Given the description of an element on the screen output the (x, y) to click on. 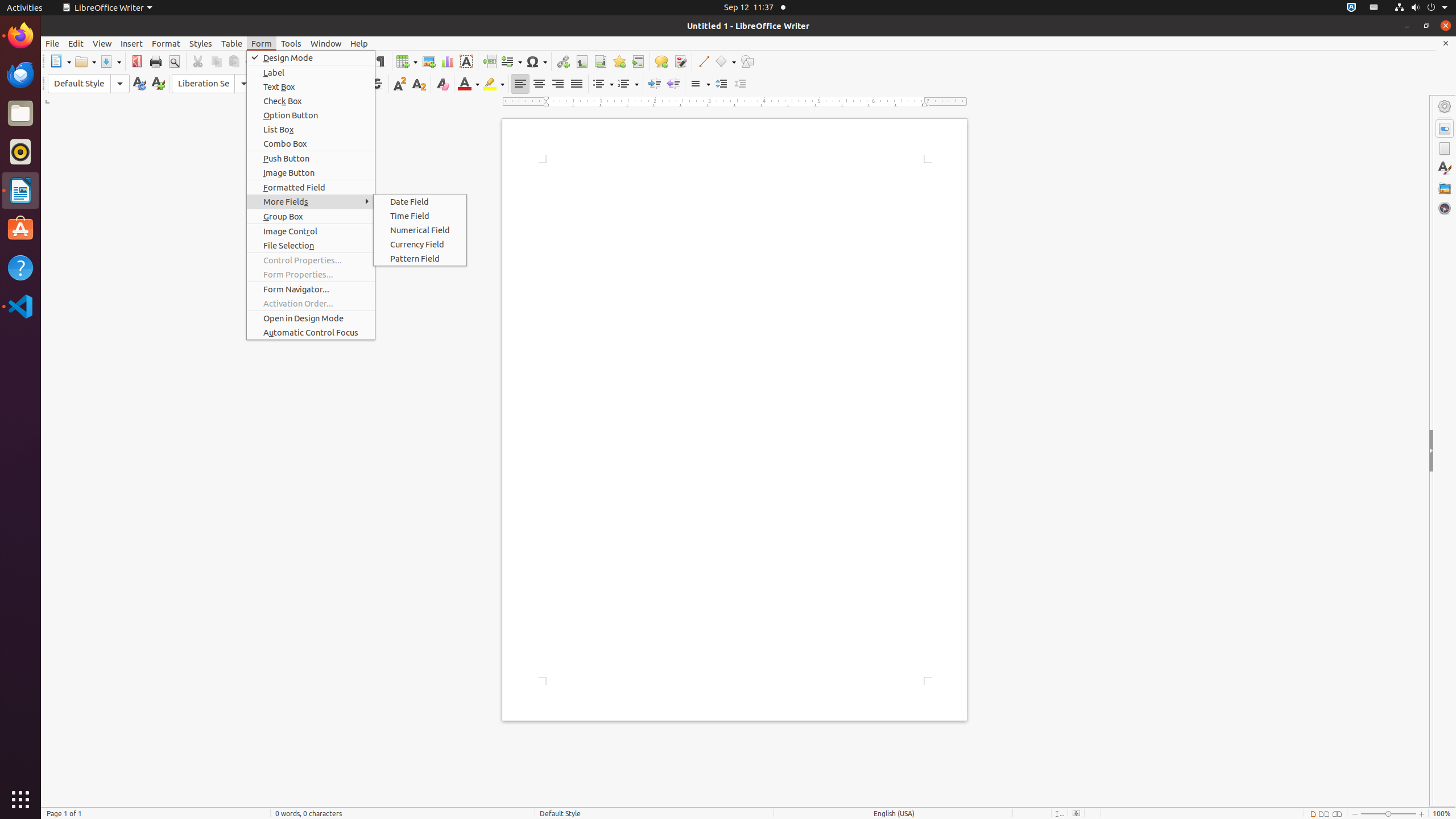
Visual Studio Code Element type: push-button (20, 306)
Files Element type: push-button (20, 113)
Navigator Element type: radio-button (1444, 208)
Open in Design Mode Element type: check-menu-item (310, 318)
File Selection Element type: check-menu-item (310, 245)
